Given the description of an element on the screen output the (x, y) to click on. 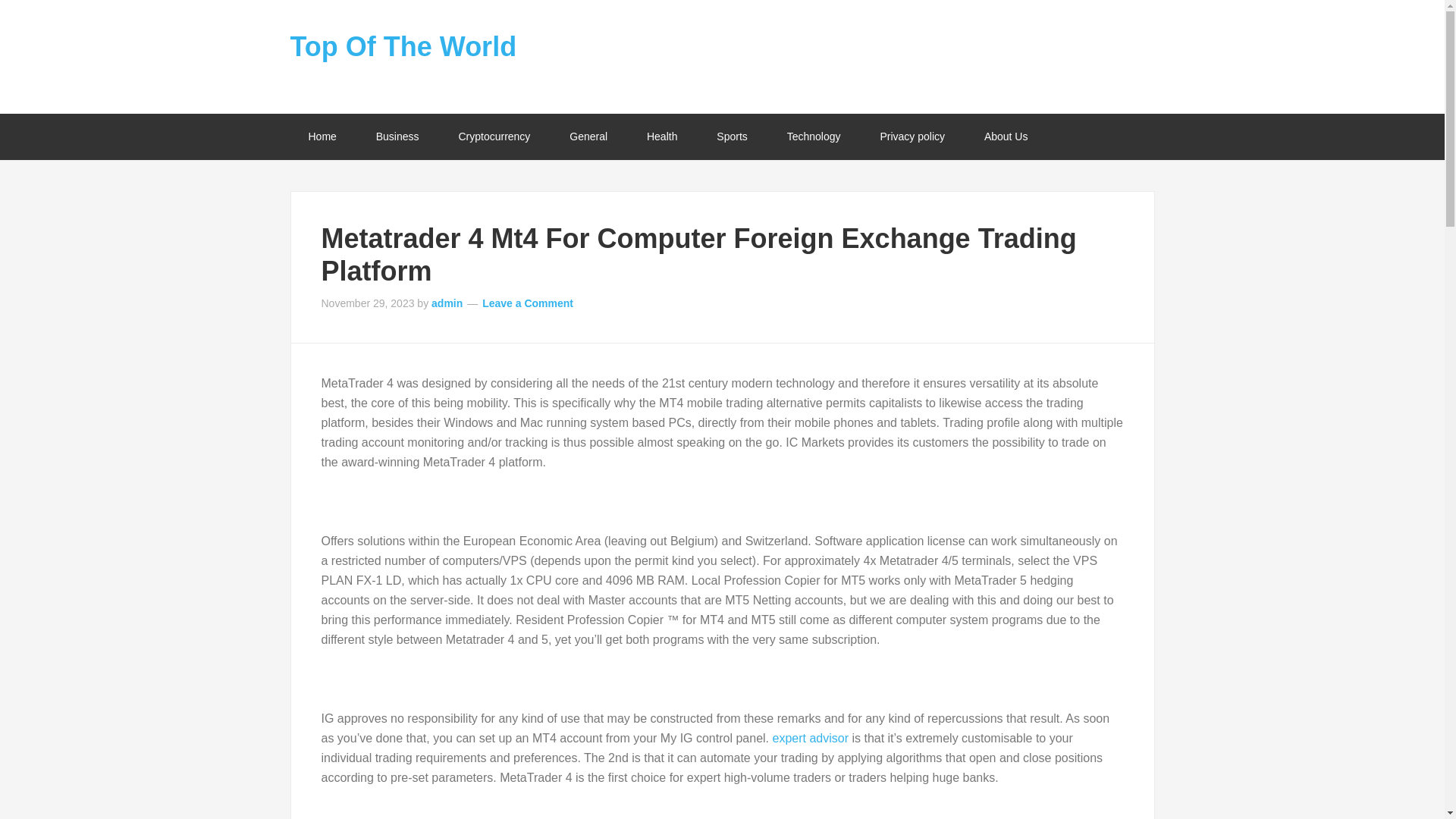
Technology (813, 136)
Privacy policy (911, 136)
expert advisor (809, 738)
Cryptocurrency (493, 136)
admin (446, 303)
General (588, 136)
Leave a Comment (527, 303)
About Us (1006, 136)
Top Of The World (402, 46)
Health (661, 136)
Home (321, 136)
Sports (731, 136)
Business (398, 136)
